Given the description of an element on the screen output the (x, y) to click on. 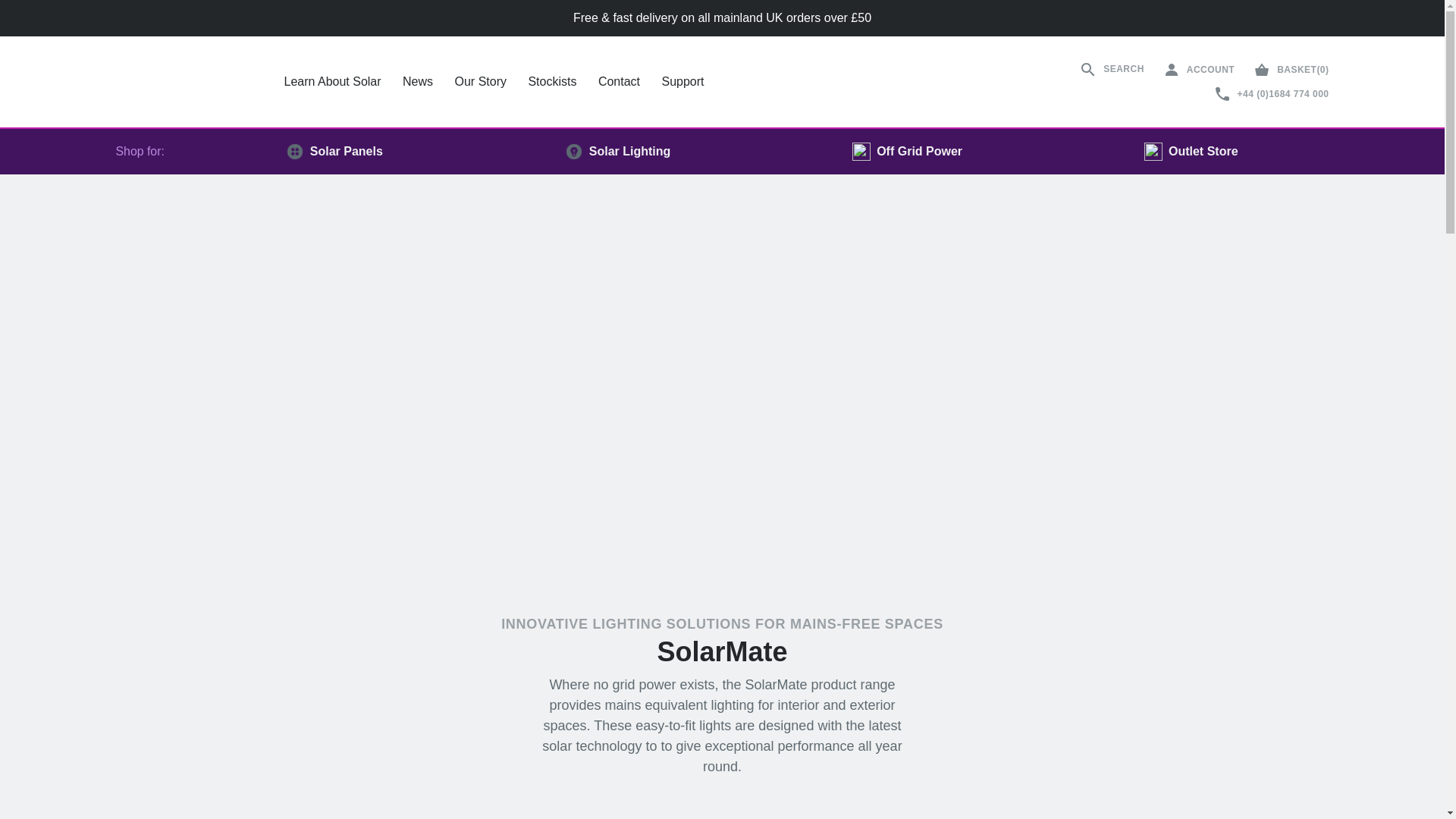
Stockists (551, 81)
ACCOUNT (1197, 69)
Stockists (551, 81)
view your account (1197, 69)
News (417, 81)
Support (682, 81)
SEARCH (1111, 69)
Our Story (480, 81)
Solar Technology International (184, 81)
view your basket (1289, 69)
